Given the description of an element on the screen output the (x, y) to click on. 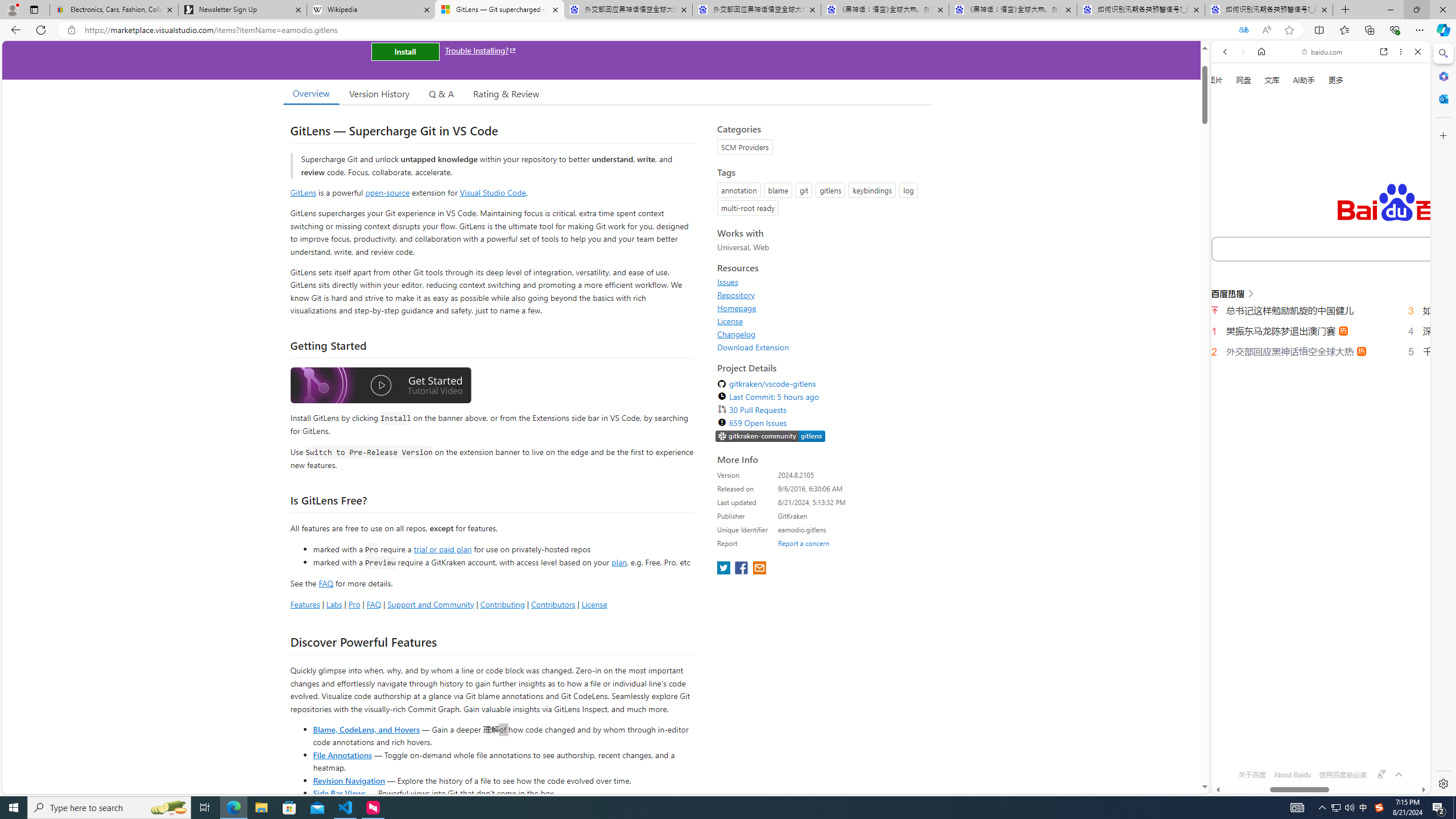
share extension on facebook (742, 568)
License (820, 320)
Changelog (736, 333)
https://slack.gitkraken.com// (769, 436)
share extension on email (759, 568)
